Given the description of an element on the screen output the (x, y) to click on. 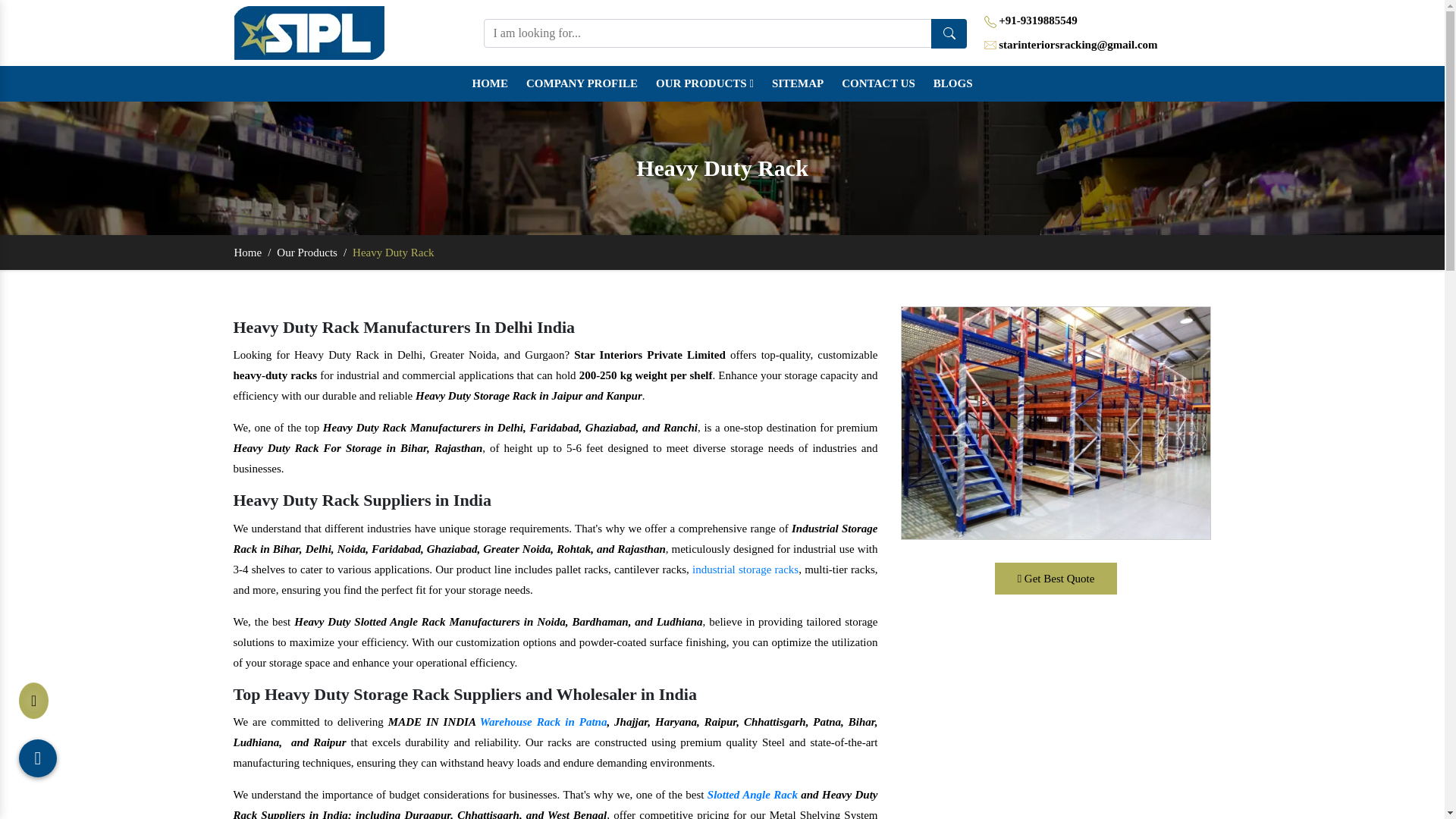
HOME (489, 83)
Search Here (948, 32)
Star Interiors Private Limited (308, 32)
OUR PRODUCTS (704, 83)
COMPANY PROFILE (581, 83)
Mail Us (989, 44)
Home (489, 83)
